Given the description of an element on the screen output the (x, y) to click on. 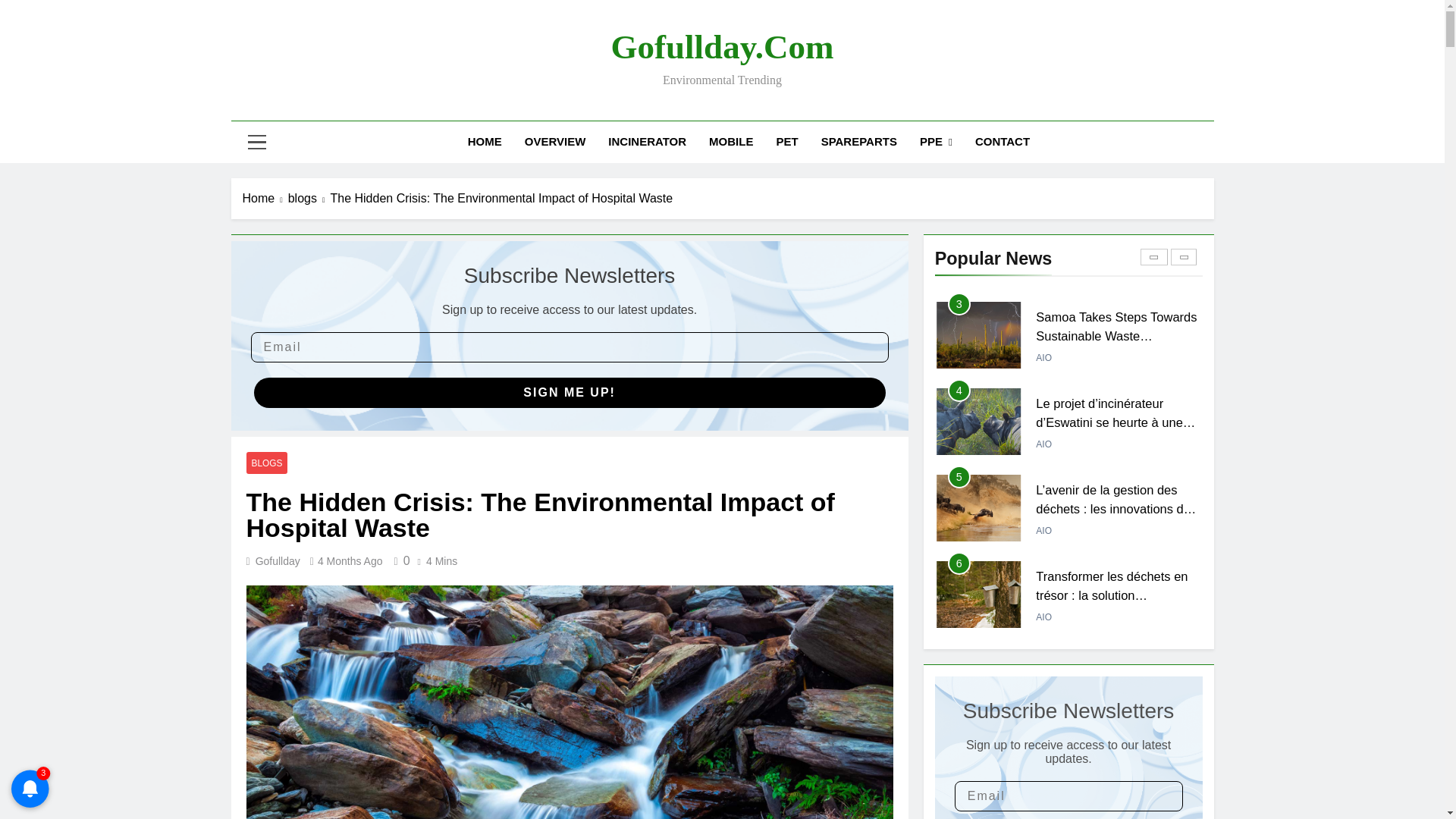
Home (265, 198)
HOME (485, 141)
Submit (32, 12)
PPE (935, 141)
BLOGS (266, 463)
PET (786, 141)
SPAREPARTS (858, 141)
OVERVIEW (554, 141)
0 (399, 560)
CONTACT (1002, 141)
4 Months Ago (349, 561)
INCINERATOR (646, 141)
Gofullday.Com (722, 46)
blogs (309, 198)
SIGN ME UP! (569, 392)
